Given the description of an element on the screen output the (x, y) to click on. 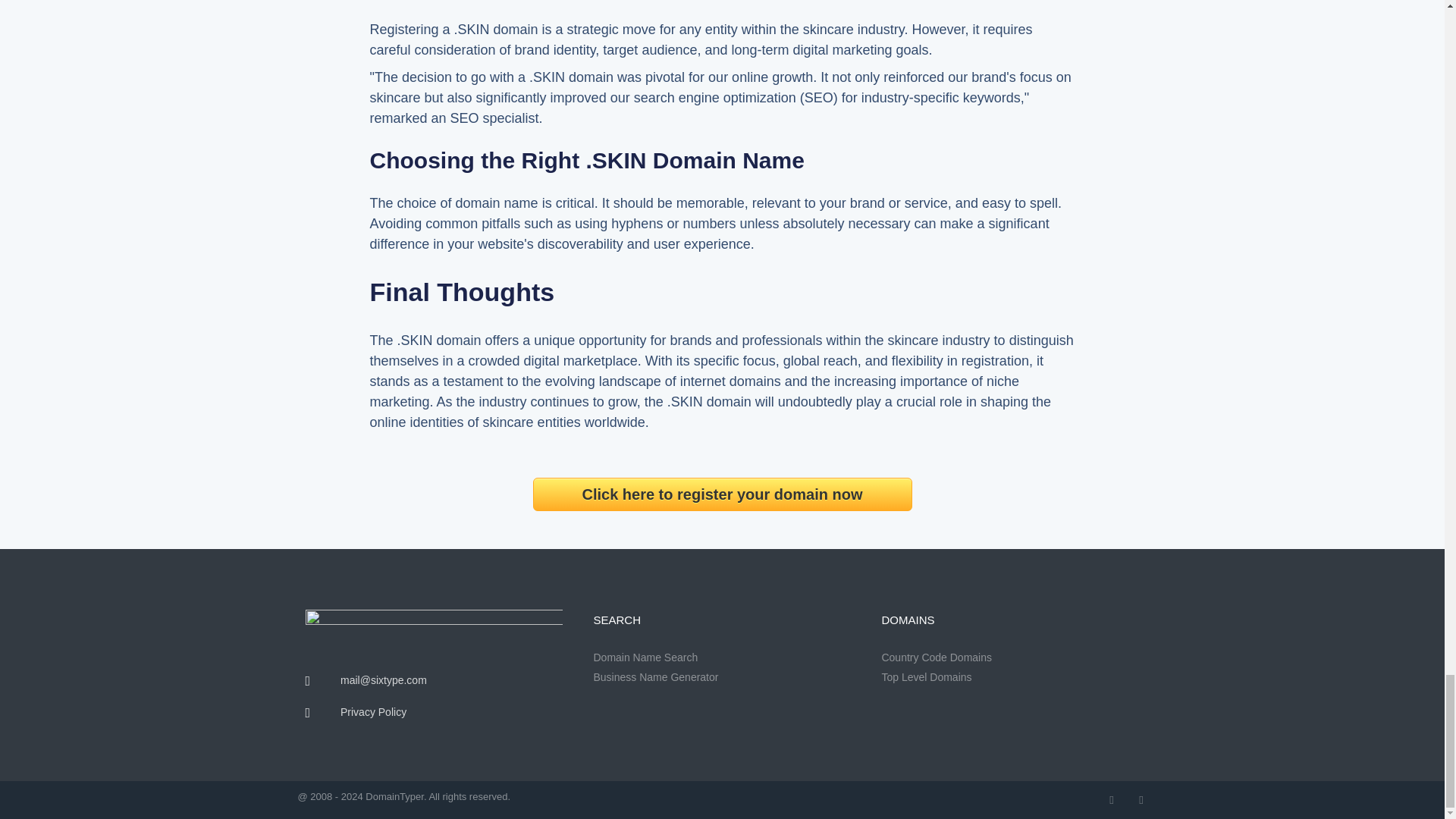
Country Code Domains (1009, 657)
Click here to register your domain now (721, 494)
Top Level Domains (1009, 677)
Business Name Generator (721, 677)
Privacy Policy (433, 712)
Domain Name Search (721, 657)
